Given the description of an element on the screen output the (x, y) to click on. 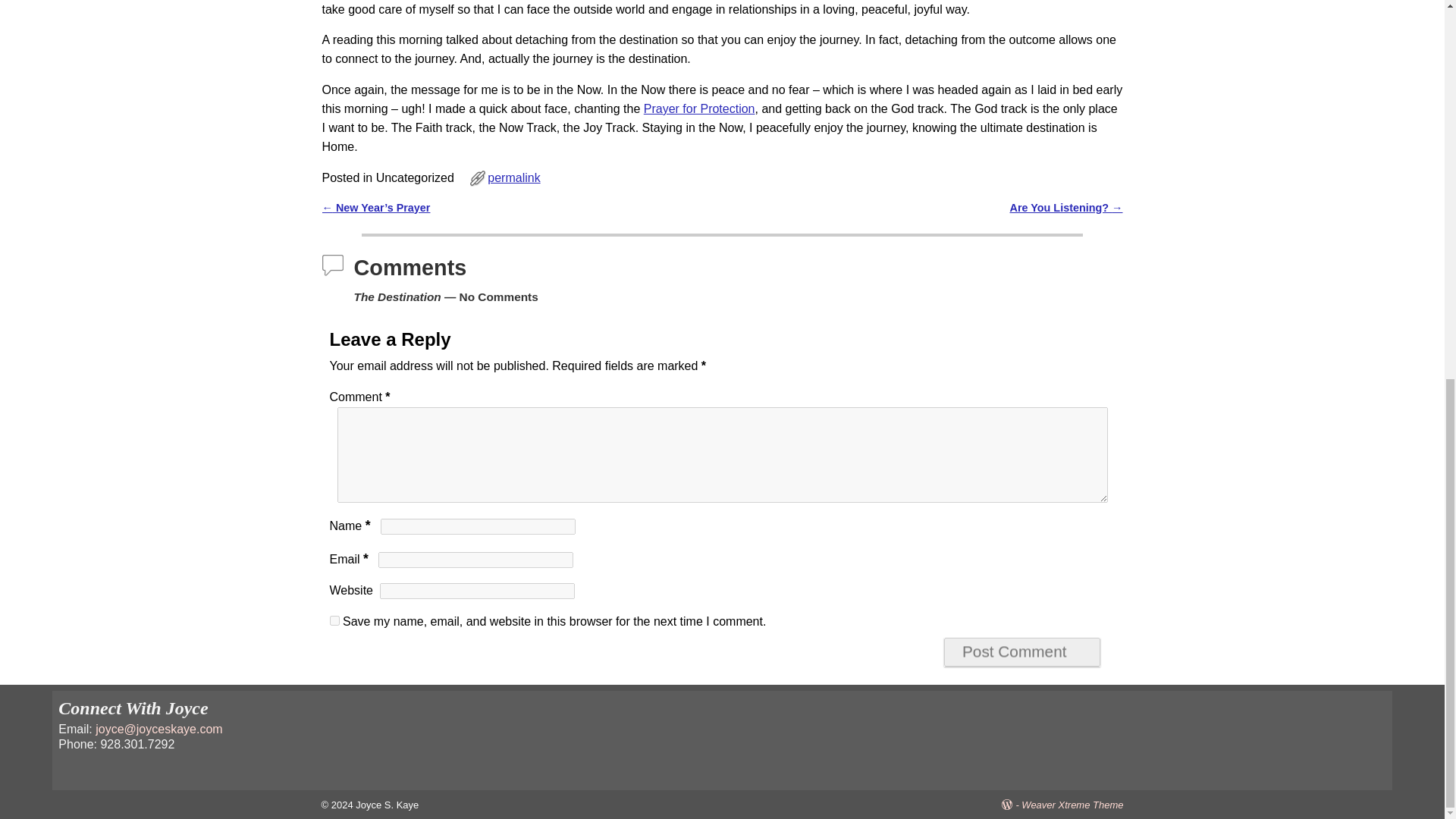
Prayer for Protection (699, 108)
Weaver Xtreme Theme (1072, 804)
yes (334, 620)
Proudly powered by WordPress (1011, 804)
Permalink to The Destination (513, 177)
- (1011, 804)
Post Comment (1021, 652)
permalink (513, 177)
Weaver Xtreme Theme (1072, 804)
Post Comment (1021, 652)
